Given the description of an element on the screen output the (x, y) to click on. 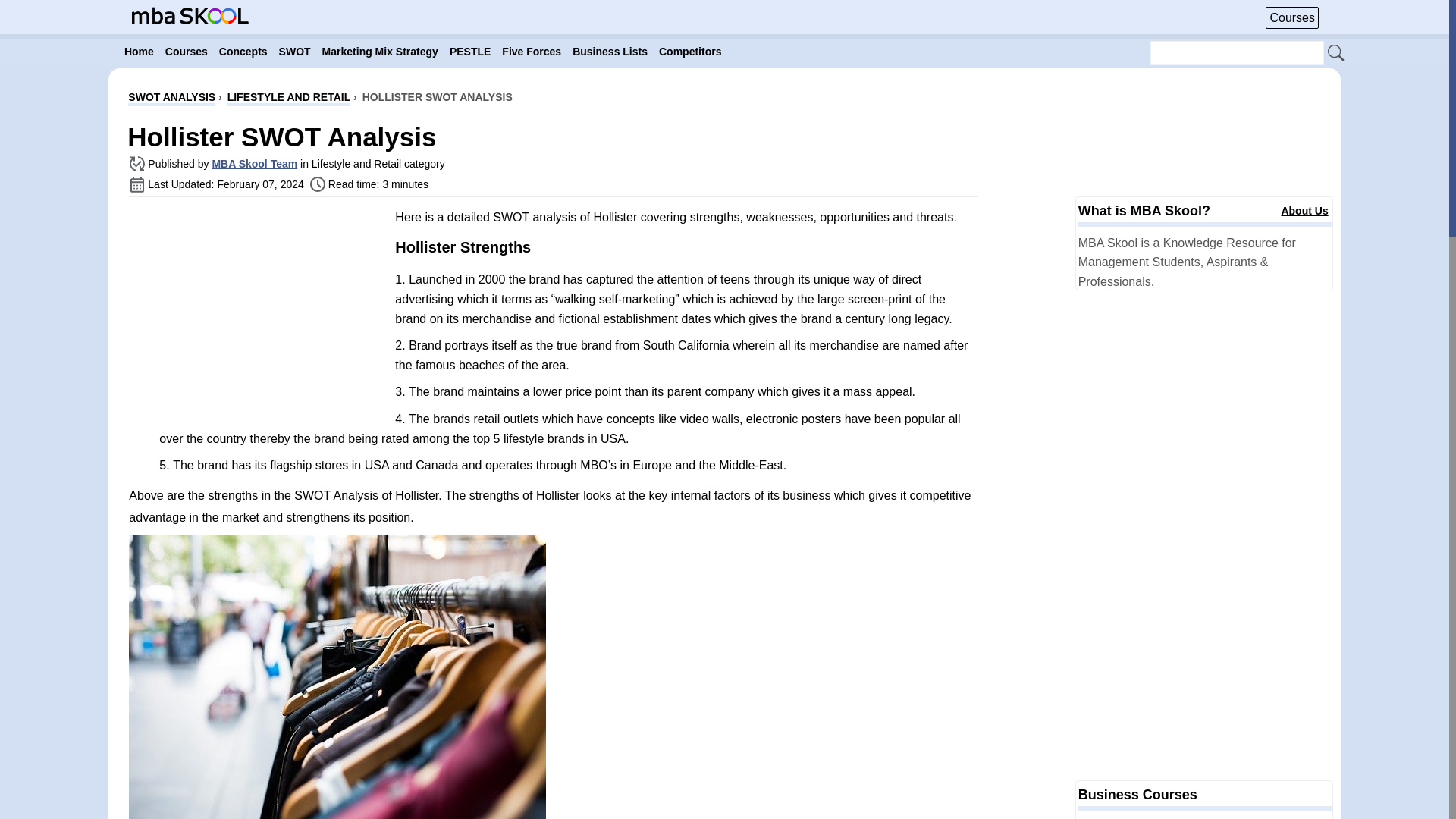
Home (138, 52)
SWOT ANALYSIS (171, 98)
MBA Skool (189, 15)
Marketing Mix Strategy (379, 52)
Five Forces (531, 52)
MBA Skool (189, 19)
About Us (1304, 210)
LIFESTYLE AND RETAIL (288, 98)
Advertisement (256, 314)
Competitors (689, 52)
